Given the description of an element on the screen output the (x, y) to click on. 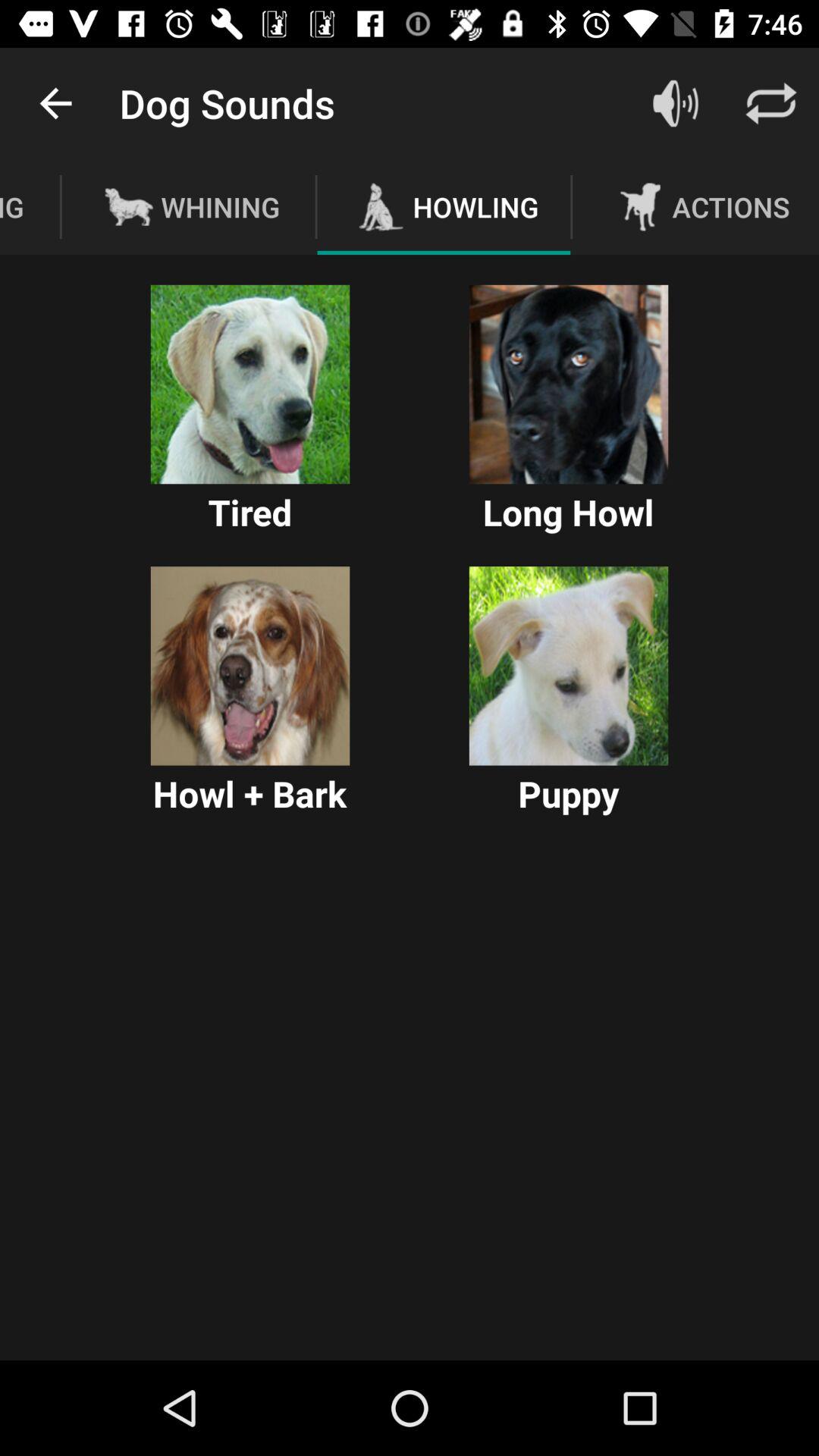
choose the item to the right of the howling icon (675, 103)
